Given the description of an element on the screen output the (x, y) to click on. 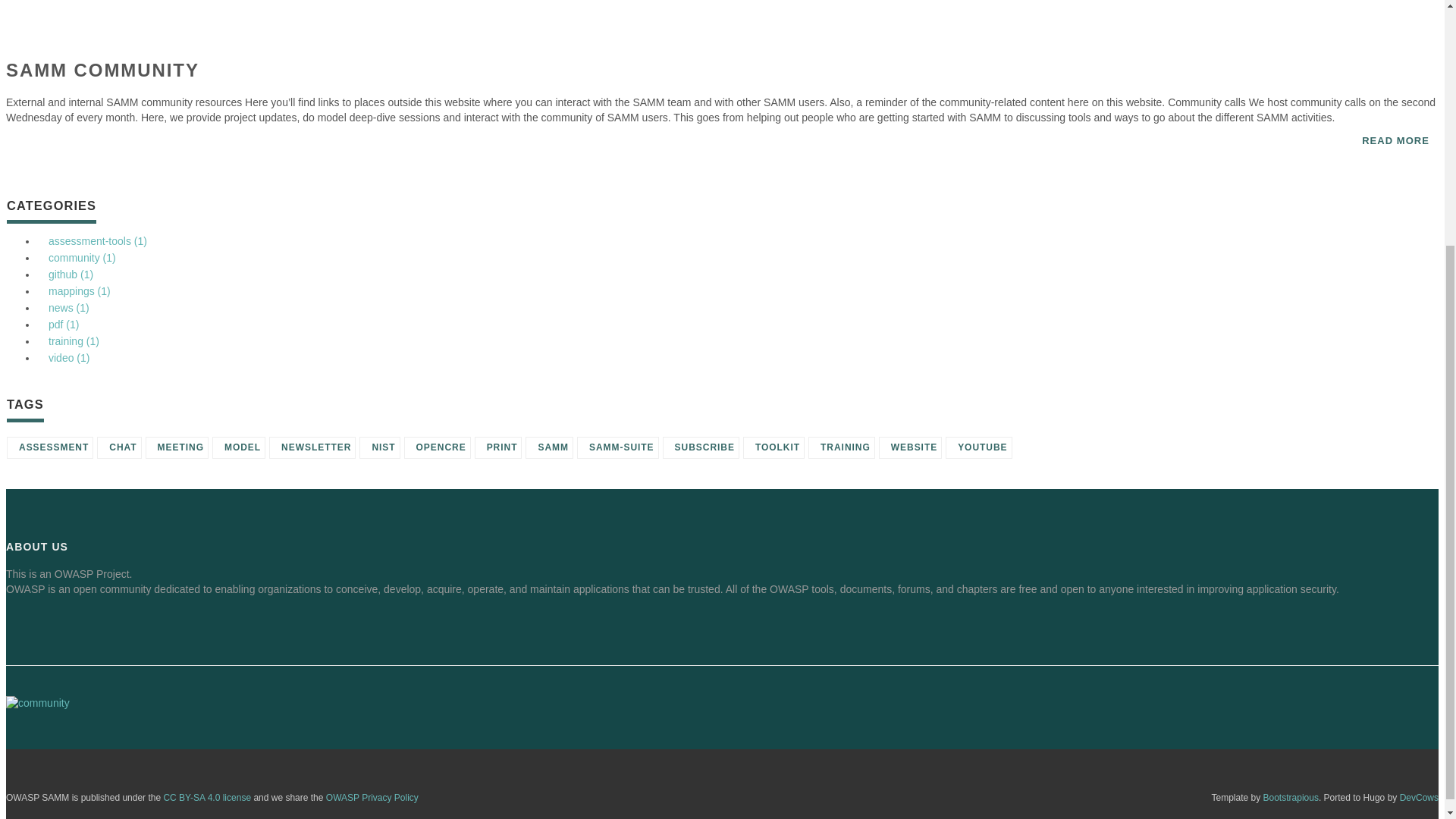
NIST (378, 447)
CHAT (119, 447)
MEETING (176, 447)
NEWSLETTER (312, 447)
SAMM COMMUNITY (102, 69)
ASSESSMENT (50, 447)
MODEL (238, 447)
